Given the description of an element on the screen output the (x, y) to click on. 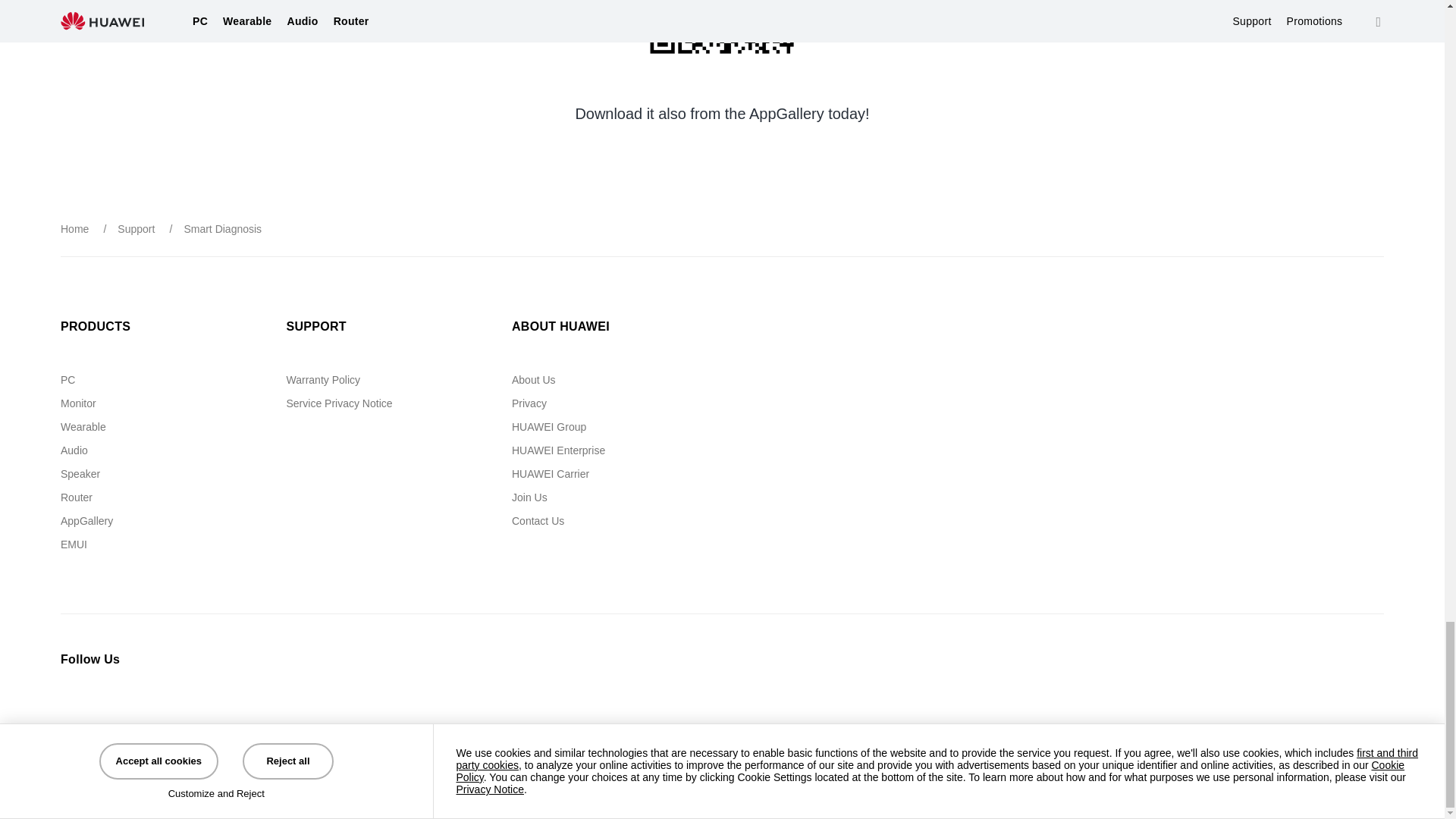
Router (77, 497)
EMUI (74, 544)
AppGallery (87, 521)
Speaker (80, 473)
Audio (74, 450)
PC (68, 379)
Wearable (83, 426)
Home (74, 228)
Monitor (78, 403)
Support (135, 228)
